Given the description of an element on the screen output the (x, y) to click on. 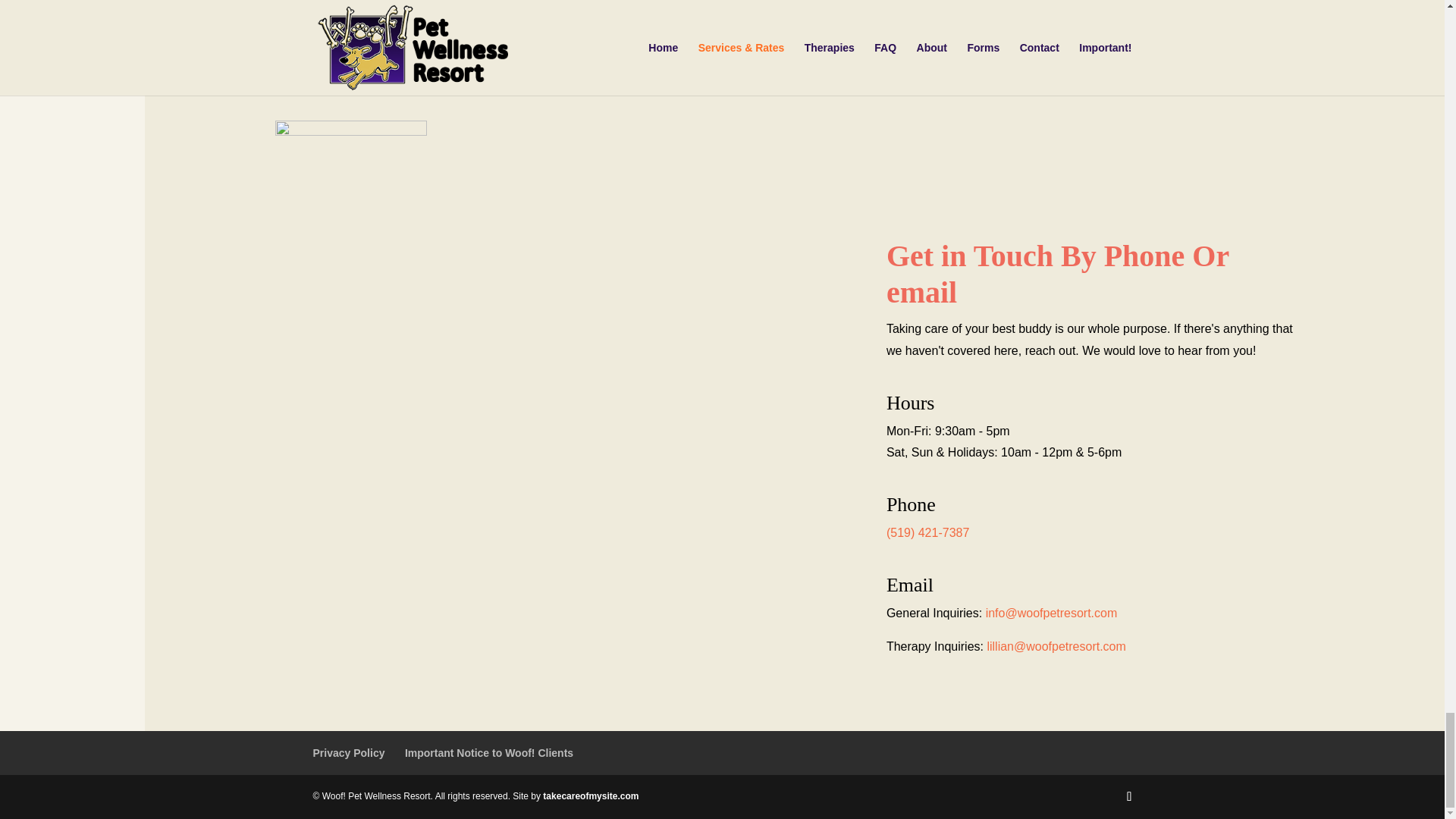
takecareofmysite.com (591, 796)
Important Notice to Woof! Clients (488, 752)
Privacy Policy (348, 752)
